Given the description of an element on the screen output the (x, y) to click on. 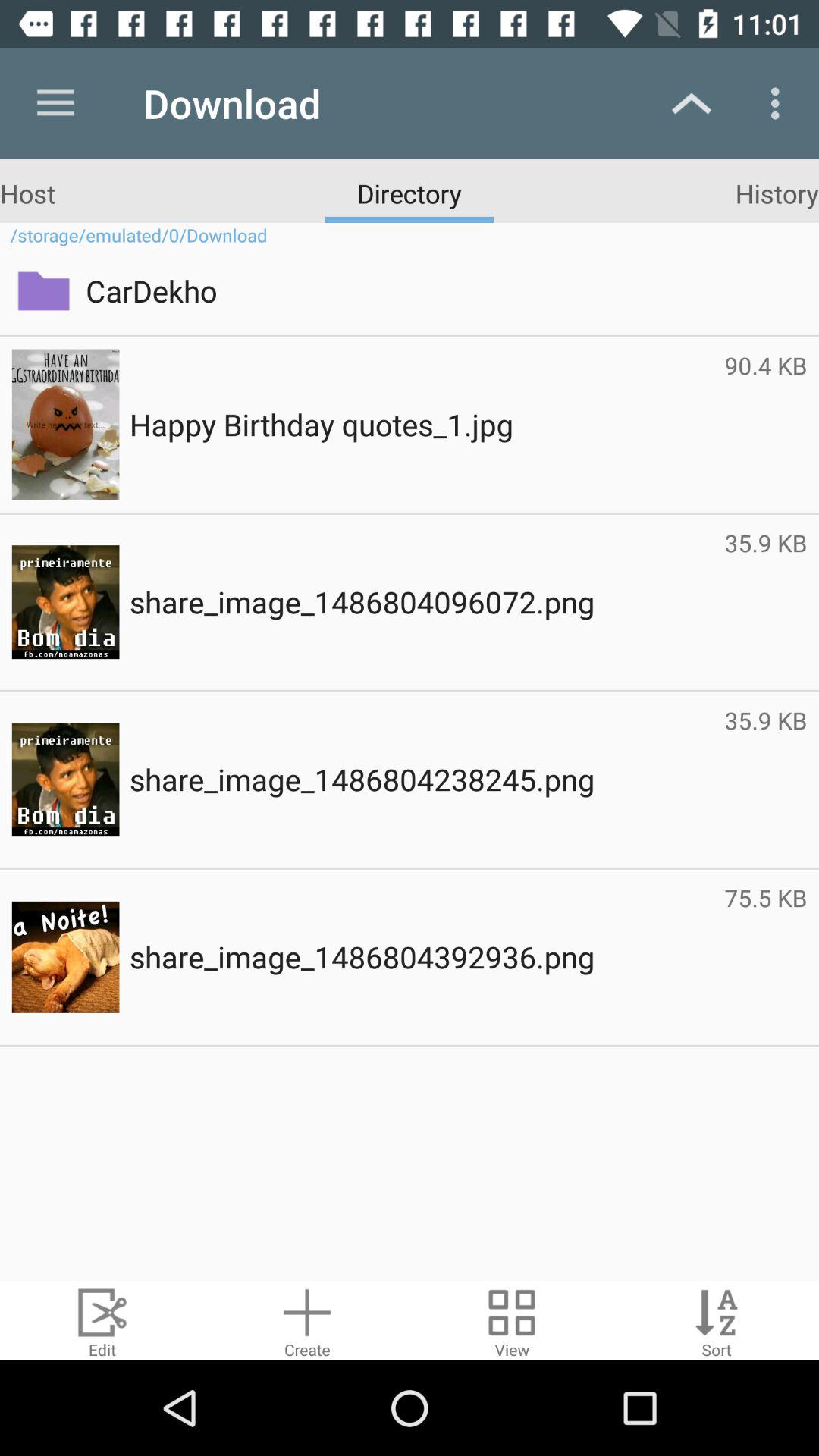
click to edit (102, 1320)
